Given the description of an element on the screen output the (x, y) to click on. 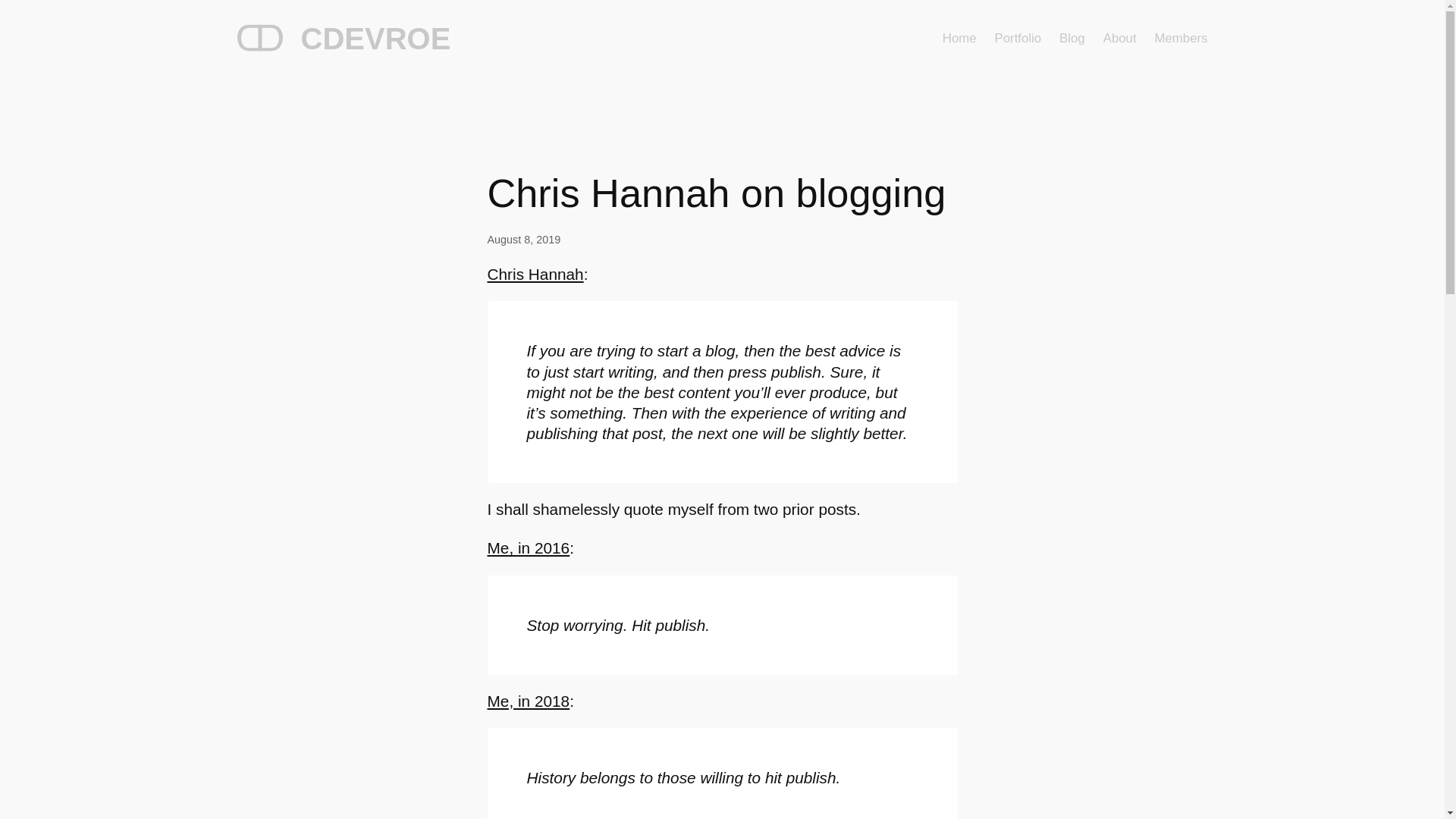
Portfolio (1018, 38)
Blog (1071, 38)
August 8, 2019 (523, 239)
Me, in 2018 (527, 701)
Home (959, 38)
Chris Hannah (534, 273)
Members (1181, 38)
Me, in 2016 (527, 547)
About (1120, 38)
CDEVROE (374, 38)
